Given the description of an element on the screen output the (x, y) to click on. 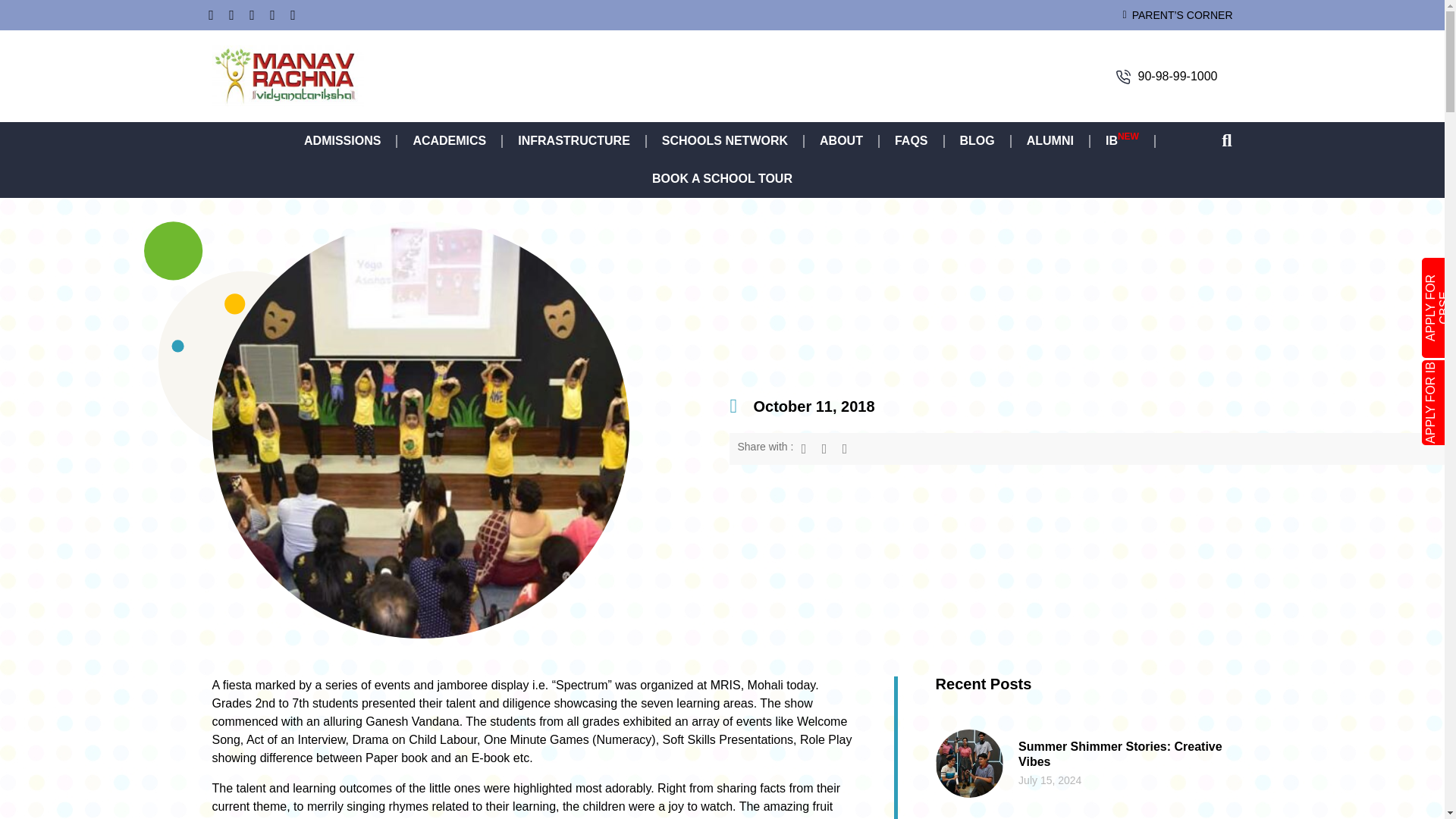
ADMISSIONS (342, 140)
90-98-99-1000 (1177, 75)
ACADEMICS (448, 140)
